Given the description of an element on the screen output the (x, y) to click on. 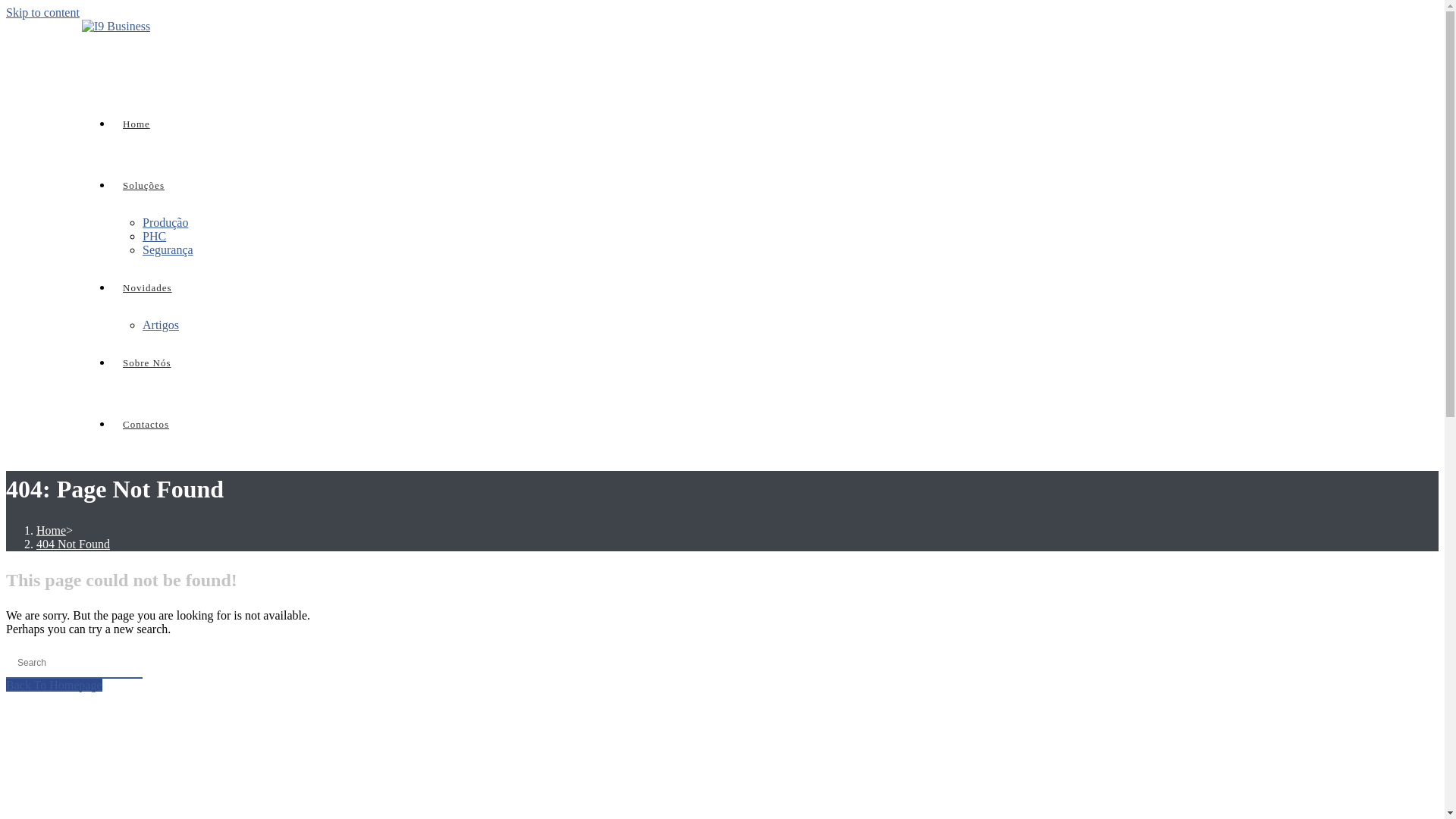
PHC Element type: text (154, 235)
Home Element type: text (50, 530)
Novidades Element type: text (147, 287)
Artigos Element type: text (160, 324)
Contactos Element type: text (145, 423)
Skip to content Element type: text (42, 12)
Back To Homepage Element type: text (54, 684)
404 Not Found Element type: text (72, 543)
Home Element type: text (136, 123)
